Given the description of an element on the screen output the (x, y) to click on. 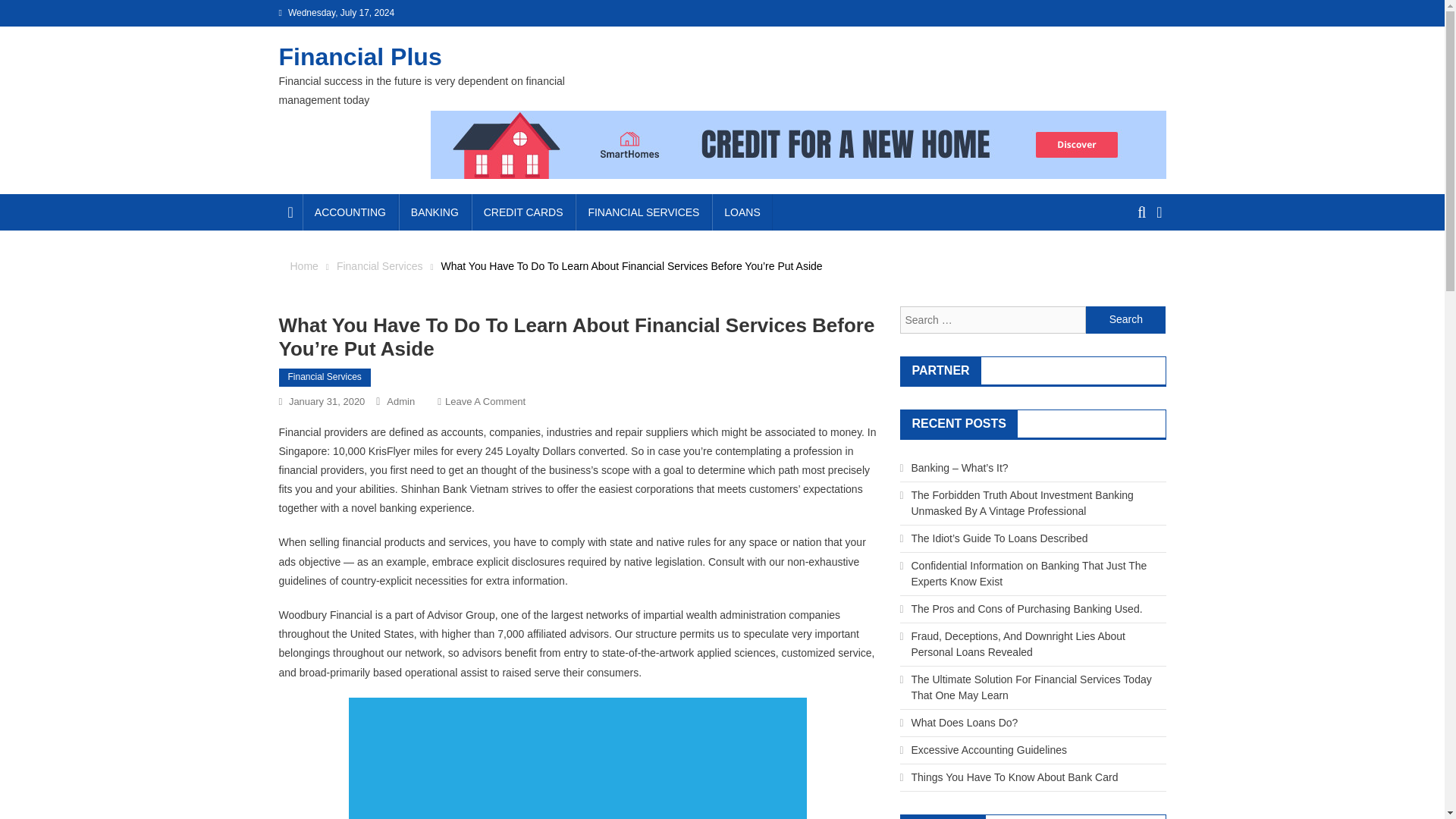
CREDIT CARDS (523, 212)
Search (1126, 319)
BANKING (434, 212)
Admin (400, 401)
January 31, 2020 (326, 401)
ACCOUNTING (349, 212)
Skip to content (34, 9)
LOANS (741, 212)
Financial Plus (360, 56)
Search (1126, 319)
Financial Services (379, 265)
Financial Services (325, 377)
Home (303, 265)
Search (1133, 267)
FINANCIAL SERVICES (643, 212)
